Given the description of an element on the screen output the (x, y) to click on. 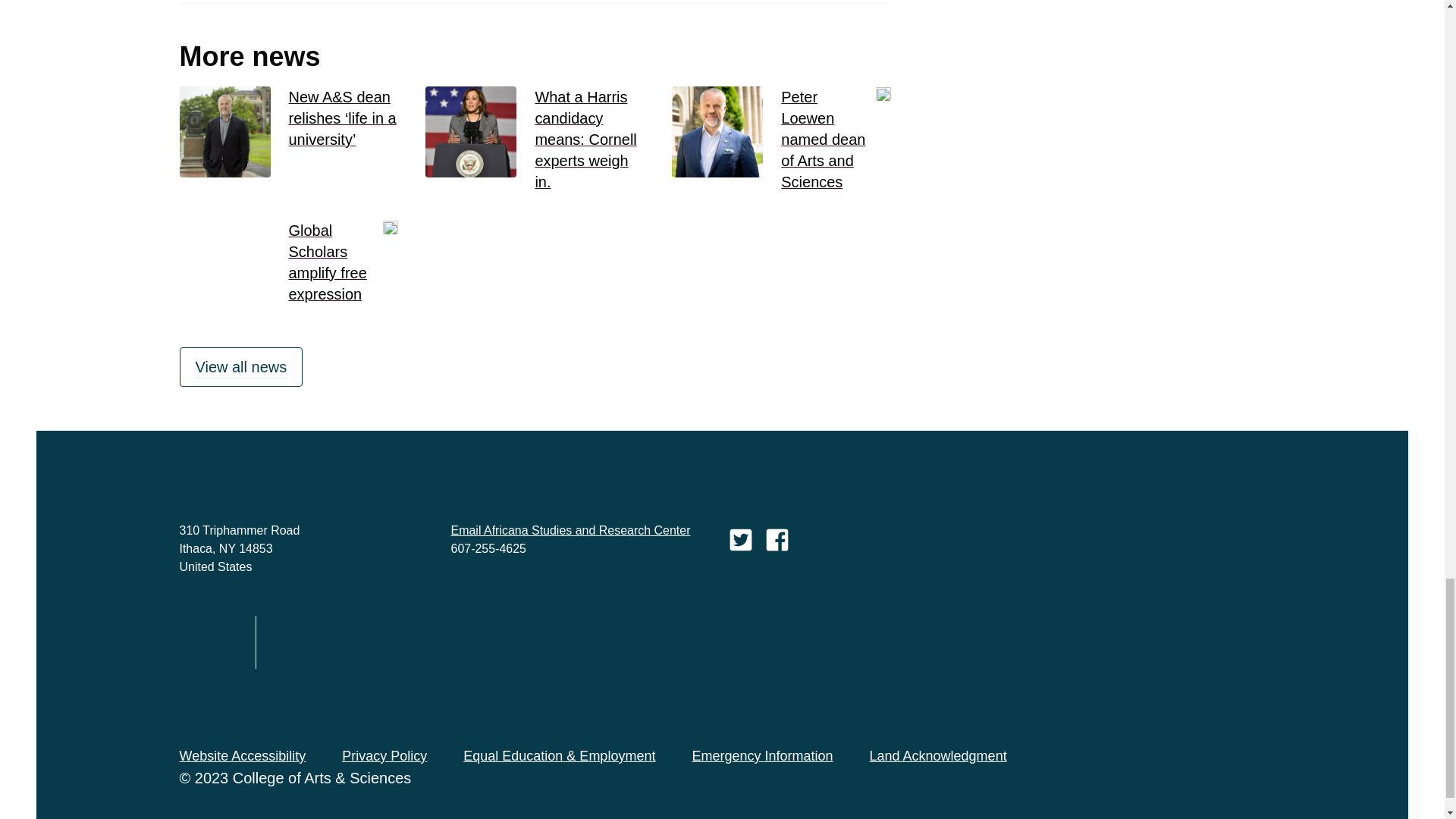
What a Harris candidacy means: Cornell experts weigh in. (589, 139)
Cornell University (209, 642)
Peter Loewen named dean of Arts and Sciences (835, 139)
